Given the description of an element on the screen output the (x, y) to click on. 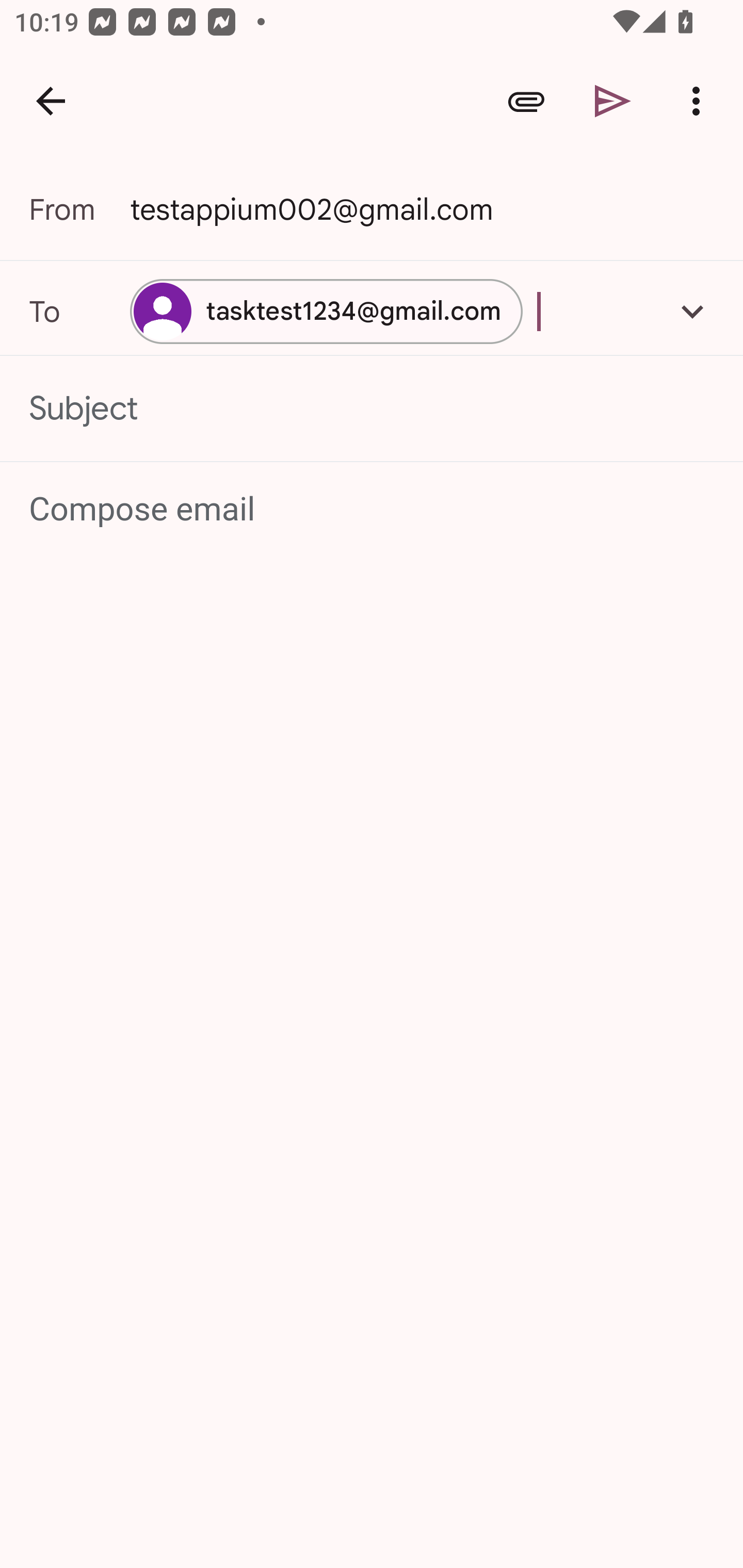
Navigate up (50, 101)
Attach file (525, 101)
Send (612, 101)
More options (699, 101)
From (79, 209)
Add Cc/Bcc (692, 311)
Subject (371, 407)
Compose email (372, 509)
